Given the description of an element on the screen output the (x, y) to click on. 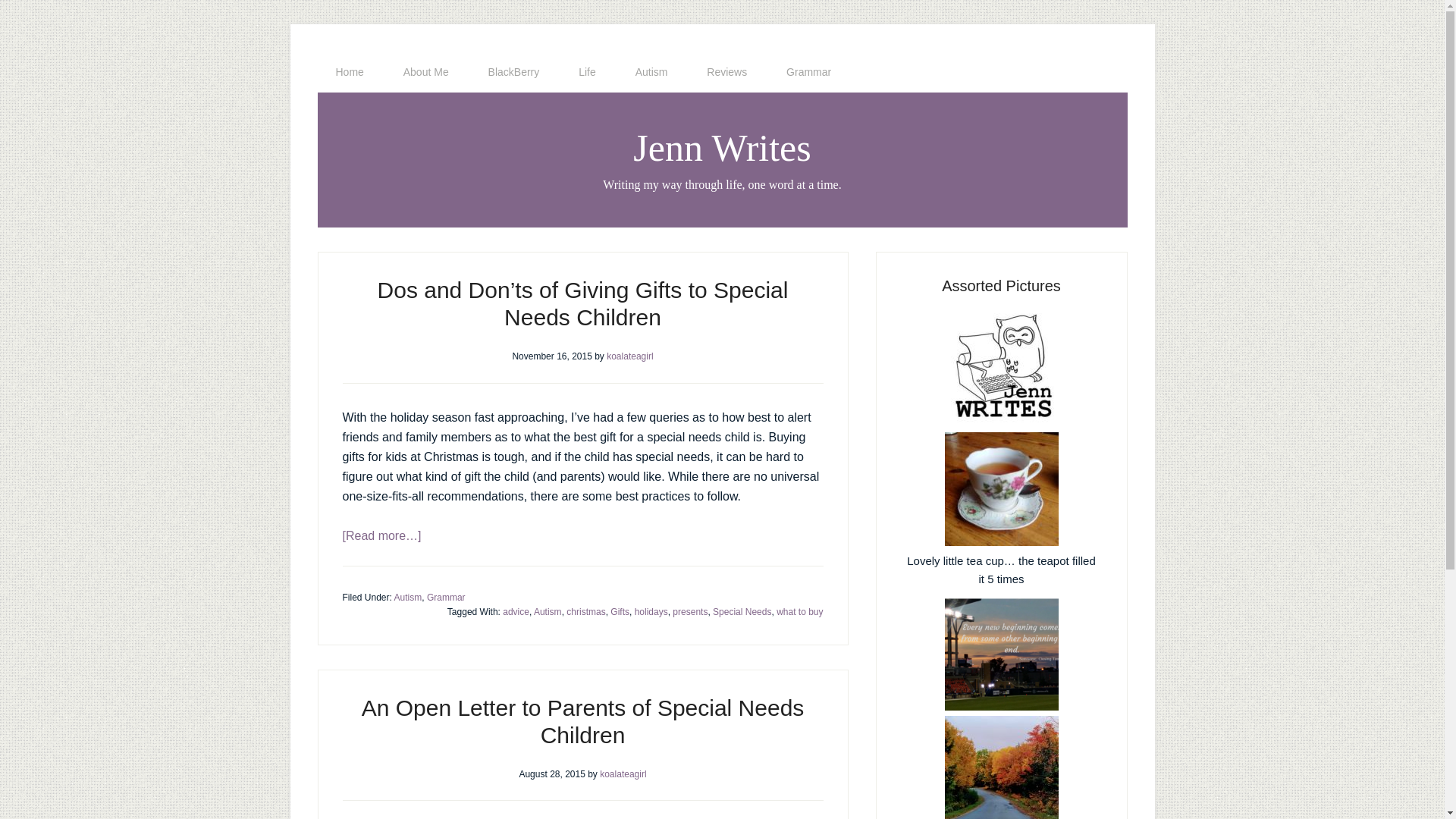
Grammar (445, 596)
Life (587, 71)
About Me (426, 71)
Jenn Writes (721, 147)
Gifts (619, 611)
koalateagirl (622, 774)
presents (689, 611)
holidays (651, 611)
Autism (651, 71)
An Open Letter to Parents of Special Needs Children (583, 720)
